Given the description of an element on the screen output the (x, y) to click on. 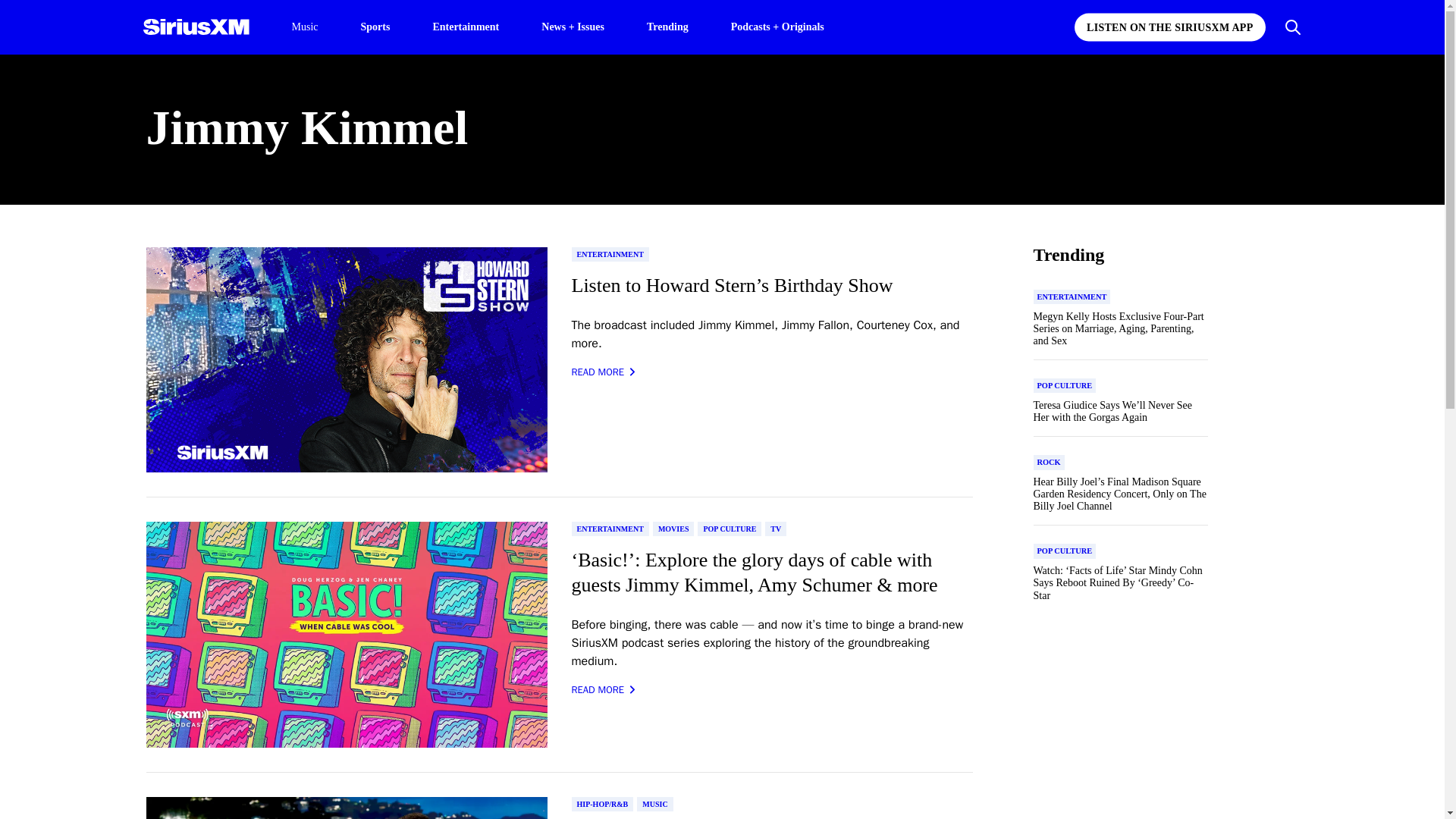
MUSIC (654, 803)
ENTERTAINMENT (610, 528)
LISTEN ON THE SIRIUSXM APP (1169, 27)
TV (775, 528)
Entertainment (465, 26)
Trending (667, 26)
READ MORE (603, 372)
ENTERTAINMENT (610, 254)
POP CULTURE (729, 528)
MOVIES (673, 528)
